Given the description of an element on the screen output the (x, y) to click on. 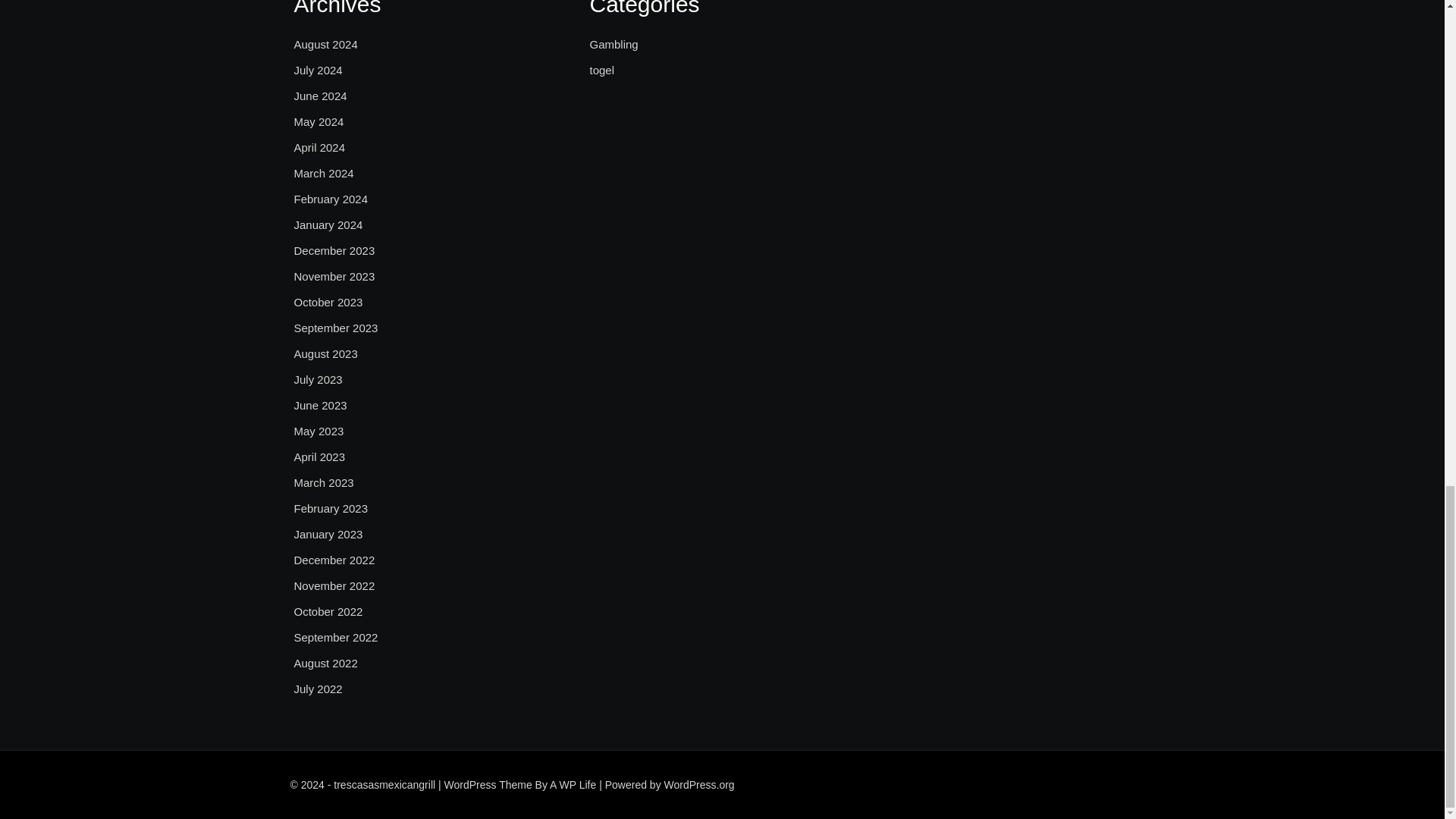
June 2024 (320, 95)
October 2022 (328, 611)
February 2023 (331, 508)
December 2023 (334, 250)
April 2023 (320, 456)
February 2024 (331, 199)
March 2023 (323, 483)
June 2023 (320, 405)
November 2022 (334, 586)
November 2023 (334, 276)
